Given the description of an element on the screen output the (x, y) to click on. 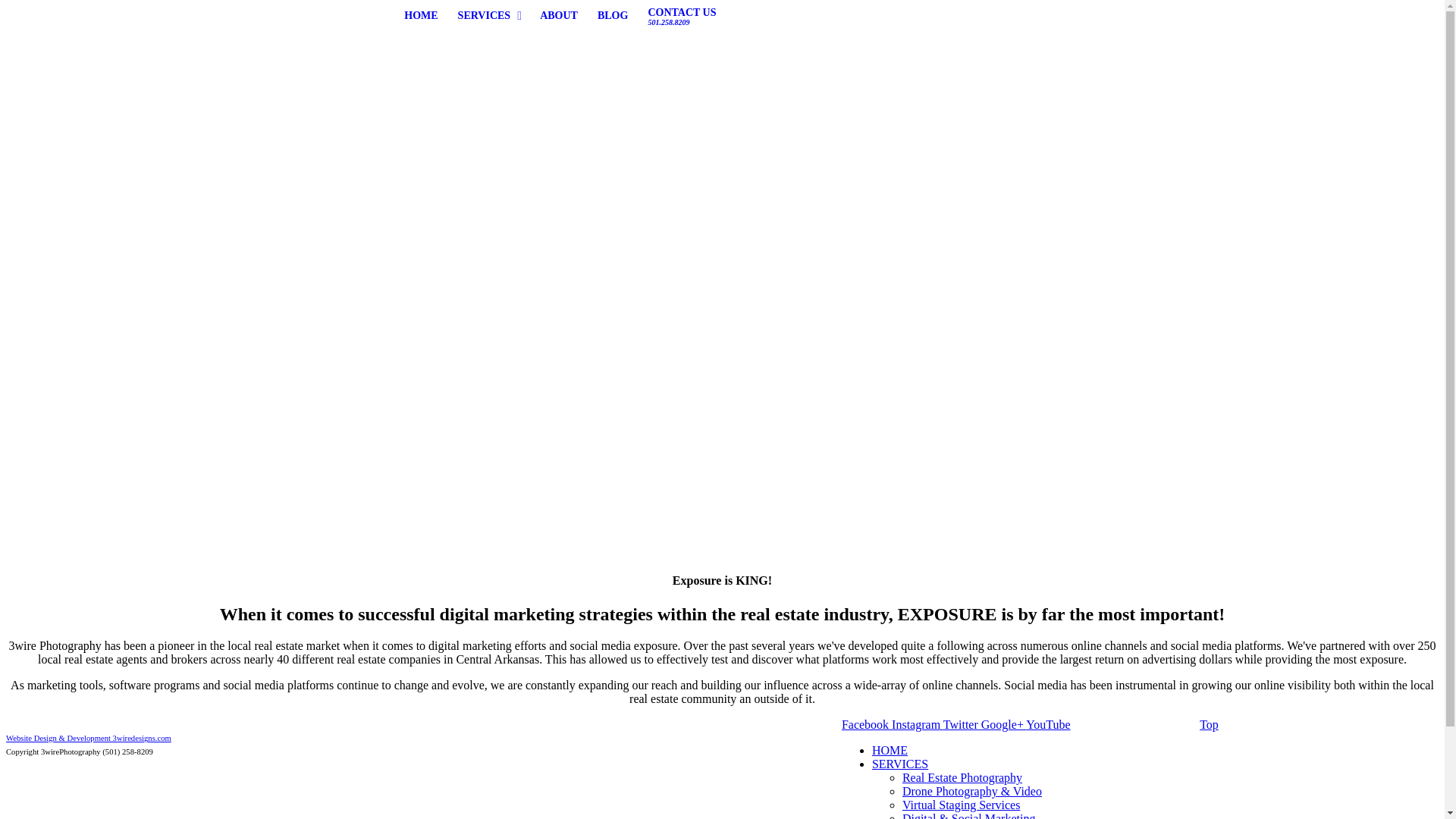
Instagram Element type: text (917, 724)
Virtual Staging Services Element type: text (960, 804)
SERVICES Element type: text (489, 15)
SERVICES Element type: text (900, 763)
HOME Element type: text (889, 749)
HOME Element type: text (420, 15)
ABOUT Element type: text (558, 15)
Website Design & Development 3wiredesigns.com Element type: text (88, 738)
BLOG Element type: text (612, 15)
Google+ Element type: text (1003, 724)
Facebook Element type: text (866, 724)
CONTACT US
501.258.8209 Element type: text (681, 16)
YouTube Element type: text (1048, 724)
Drone Photography & Video Element type: text (971, 790)
Top Element type: text (1208, 724)
Twitter Element type: text (962, 724)
Real Estate Photography Element type: text (962, 777)
